Given the description of an element on the screen output the (x, y) to click on. 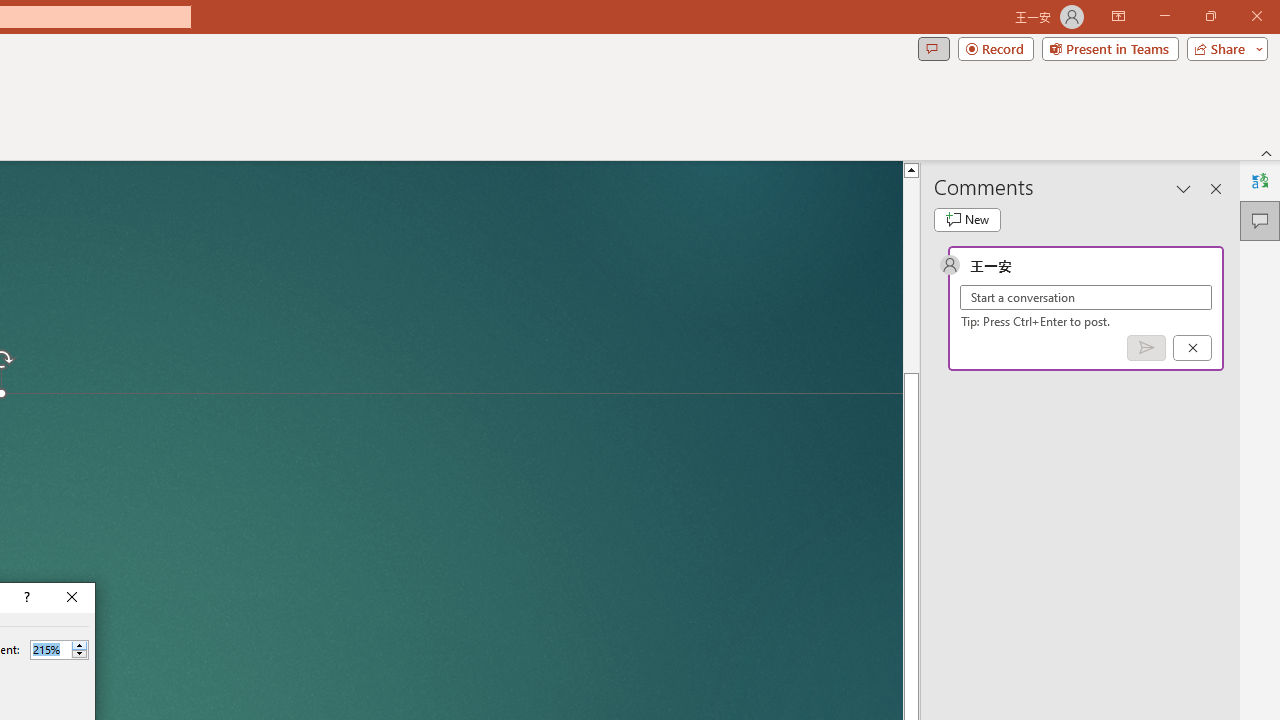
More (79, 645)
Post comment (Ctrl + Enter) (1146, 347)
Context help (25, 597)
Start a conversation (1085, 297)
Percent (50, 649)
Less (79, 654)
